Given the description of an element on the screen output the (x, y) to click on. 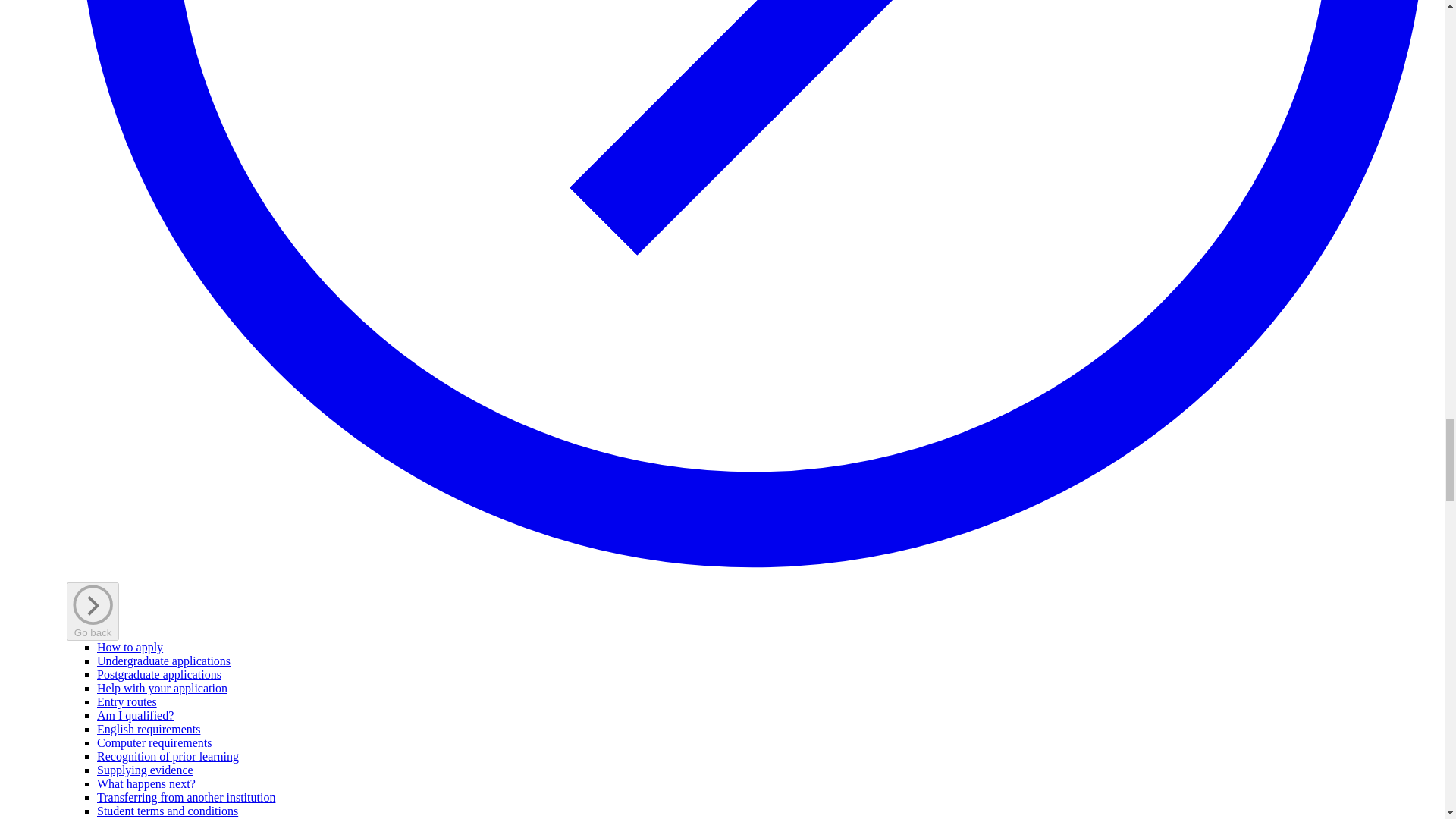
Undergraduate applications (163, 660)
Supplying evidence (145, 769)
Am I qualified? (135, 715)
Help with your application (162, 687)
Computer requirements (154, 742)
Entry routes (127, 701)
English requirements (148, 728)
How to apply (130, 646)
Transferring from another institution (186, 797)
What happens next? (146, 783)
Student terms and conditions (167, 810)
Recognition of prior learning (167, 756)
Postgraduate applications (159, 674)
Go back (92, 611)
